Given the description of an element on the screen output the (x, y) to click on. 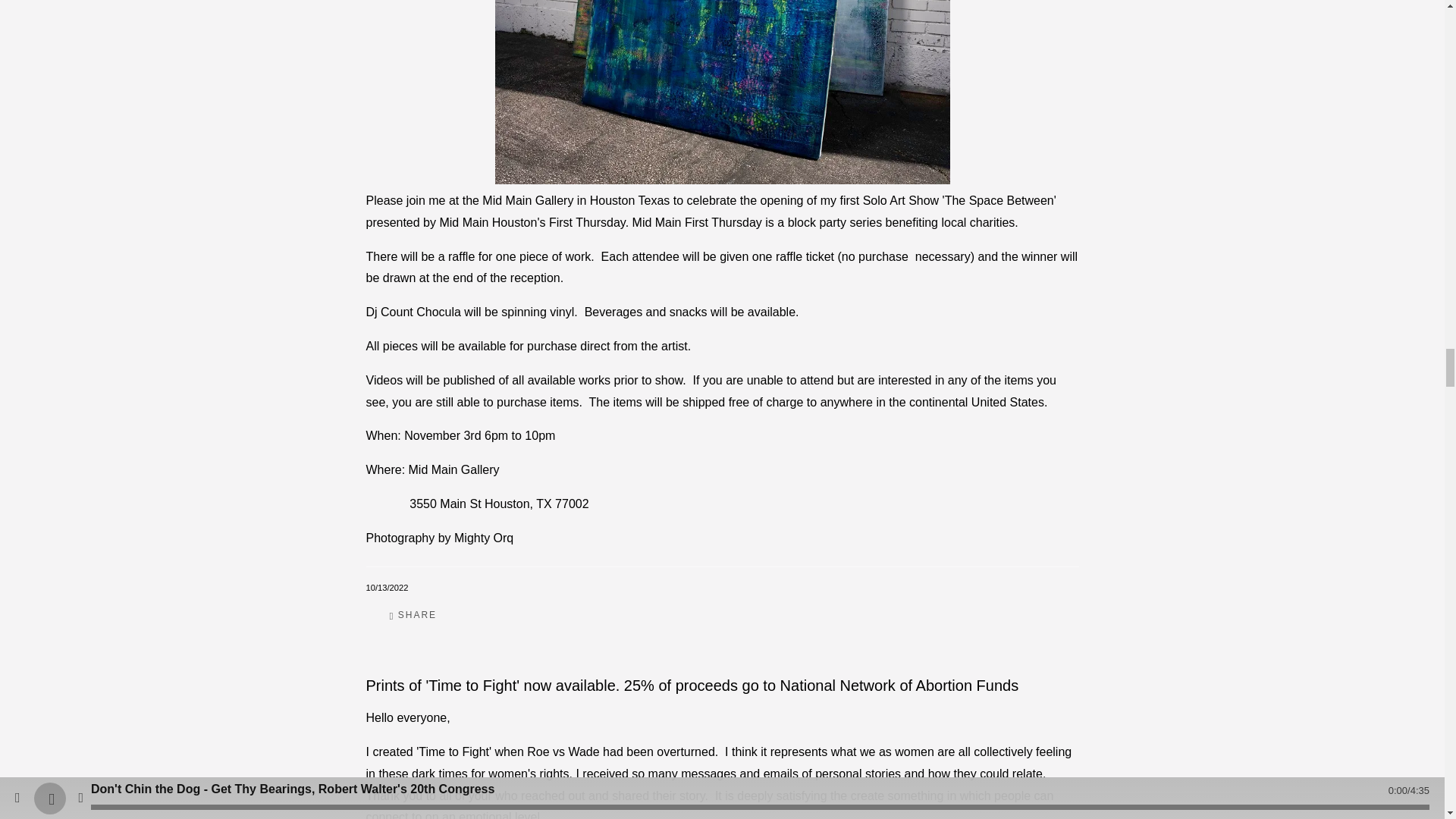
Share Announcing My First Solo Art Show!   (413, 615)
October 13, 2022 14:59 (386, 587)
SHARE (413, 615)
